Given the description of an element on the screen output the (x, y) to click on. 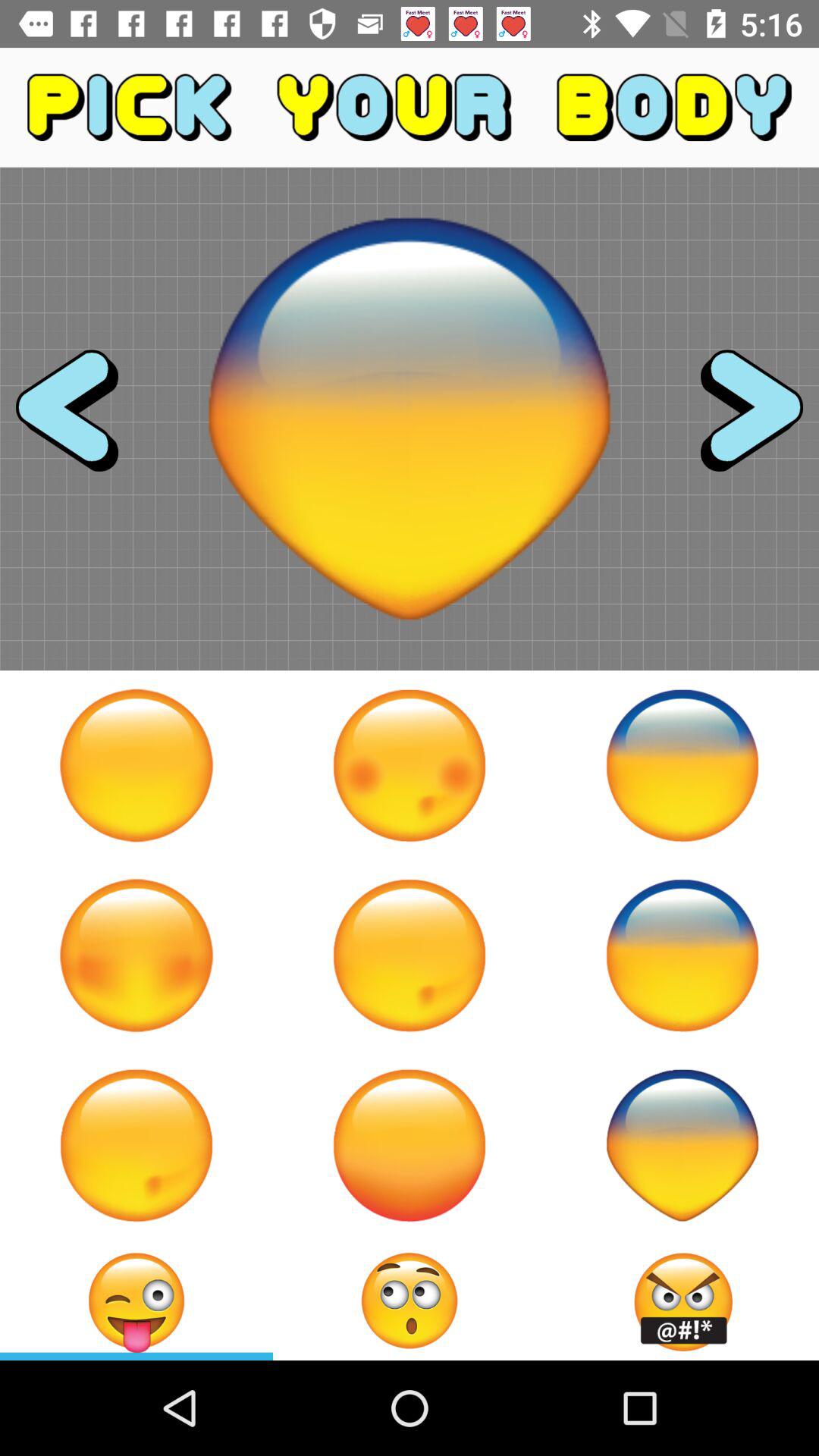
click on the second emoji on the first row (409, 765)
